Given the description of an element on the screen output the (x, y) to click on. 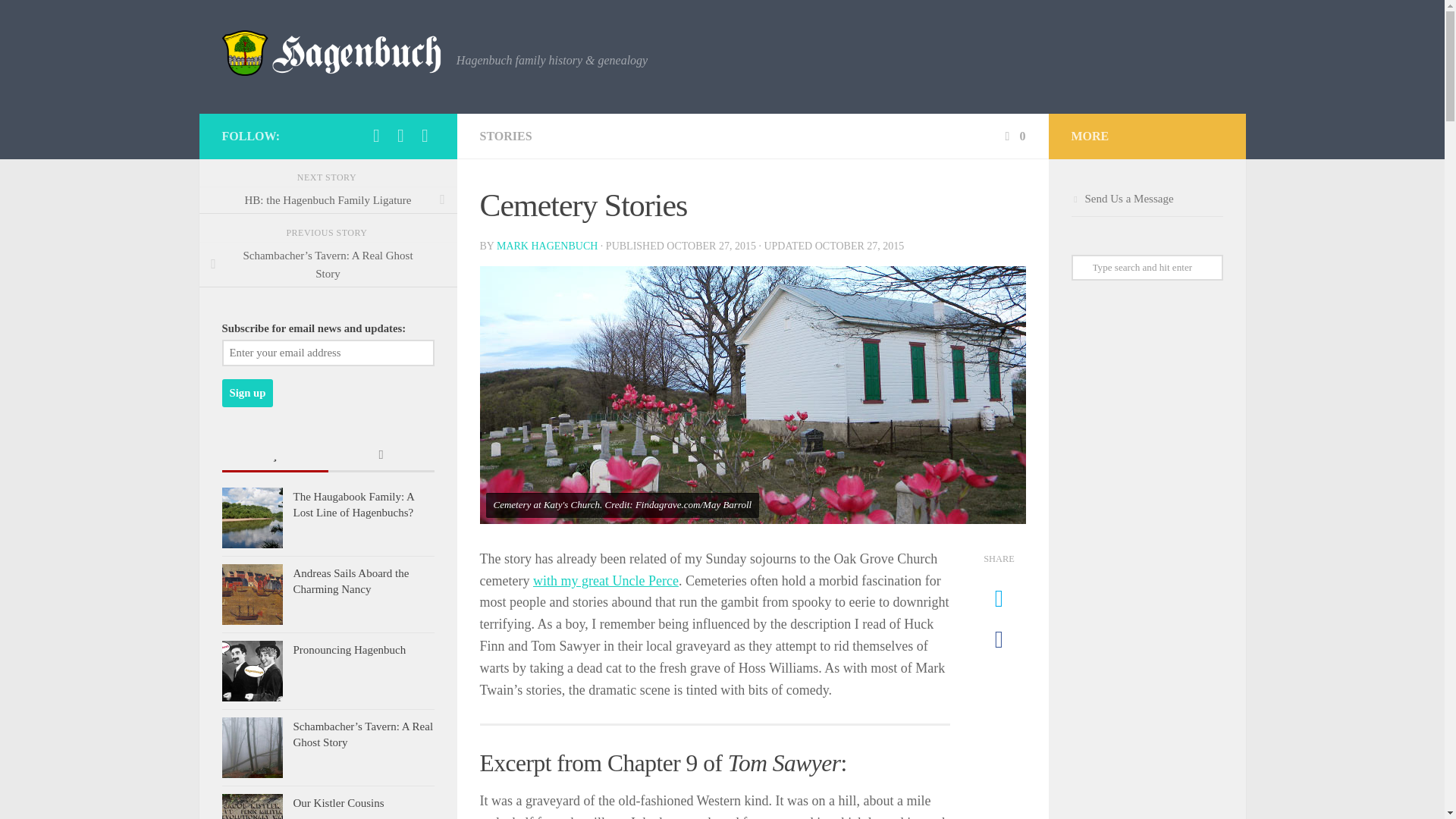
MARK HAGENBUCH (546, 245)
with my great Uncle Perce (605, 580)
Skip to content (59, 20)
Sign up (247, 393)
0 (1013, 135)
Posts by Mark Hagenbuch (546, 245)
STORIES (505, 135)
Type search and hit enter (1146, 267)
Twitter - Hagenbuch Family (400, 135)
Type search and hit enter (1146, 267)
Send us an email (423, 135)
Facebook - Hagenbuch Family (375, 135)
